Given the description of an element on the screen output the (x, y) to click on. 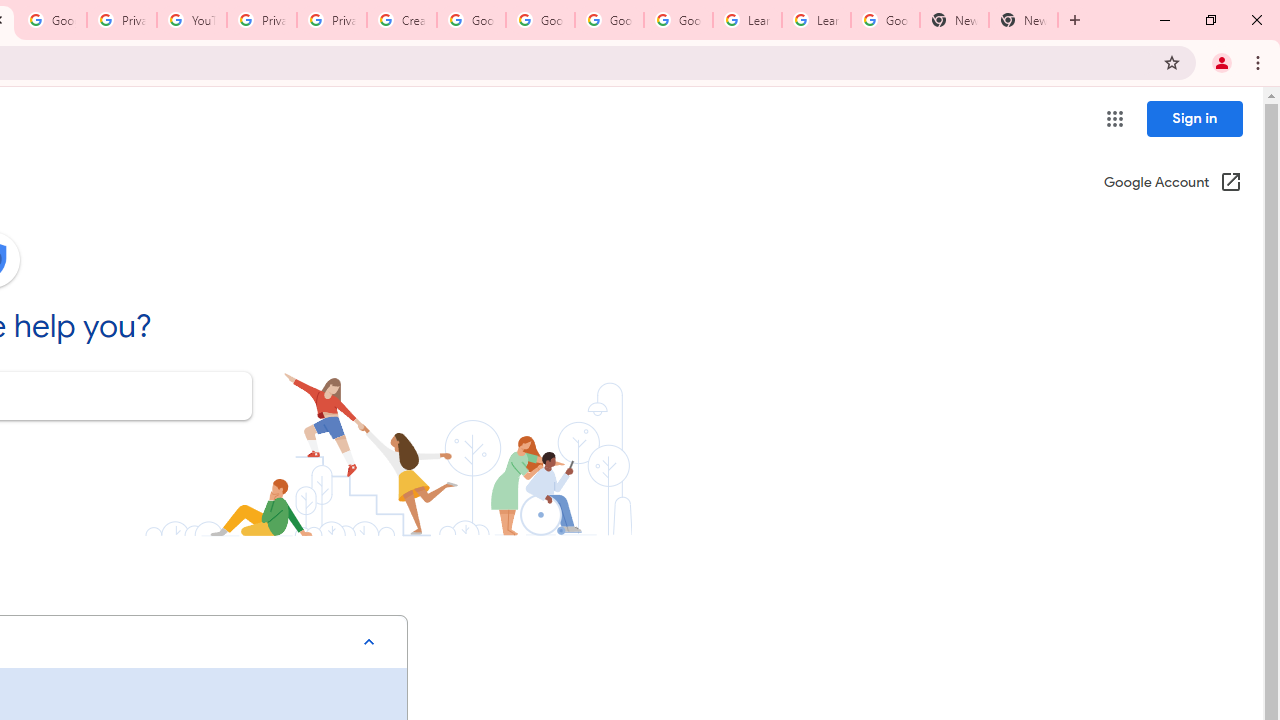
YouTube (191, 20)
Google Account Help (608, 20)
New Tab (954, 20)
Google Account Help (470, 20)
Google Account (885, 20)
